Given the description of an element on the screen output the (x, y) to click on. 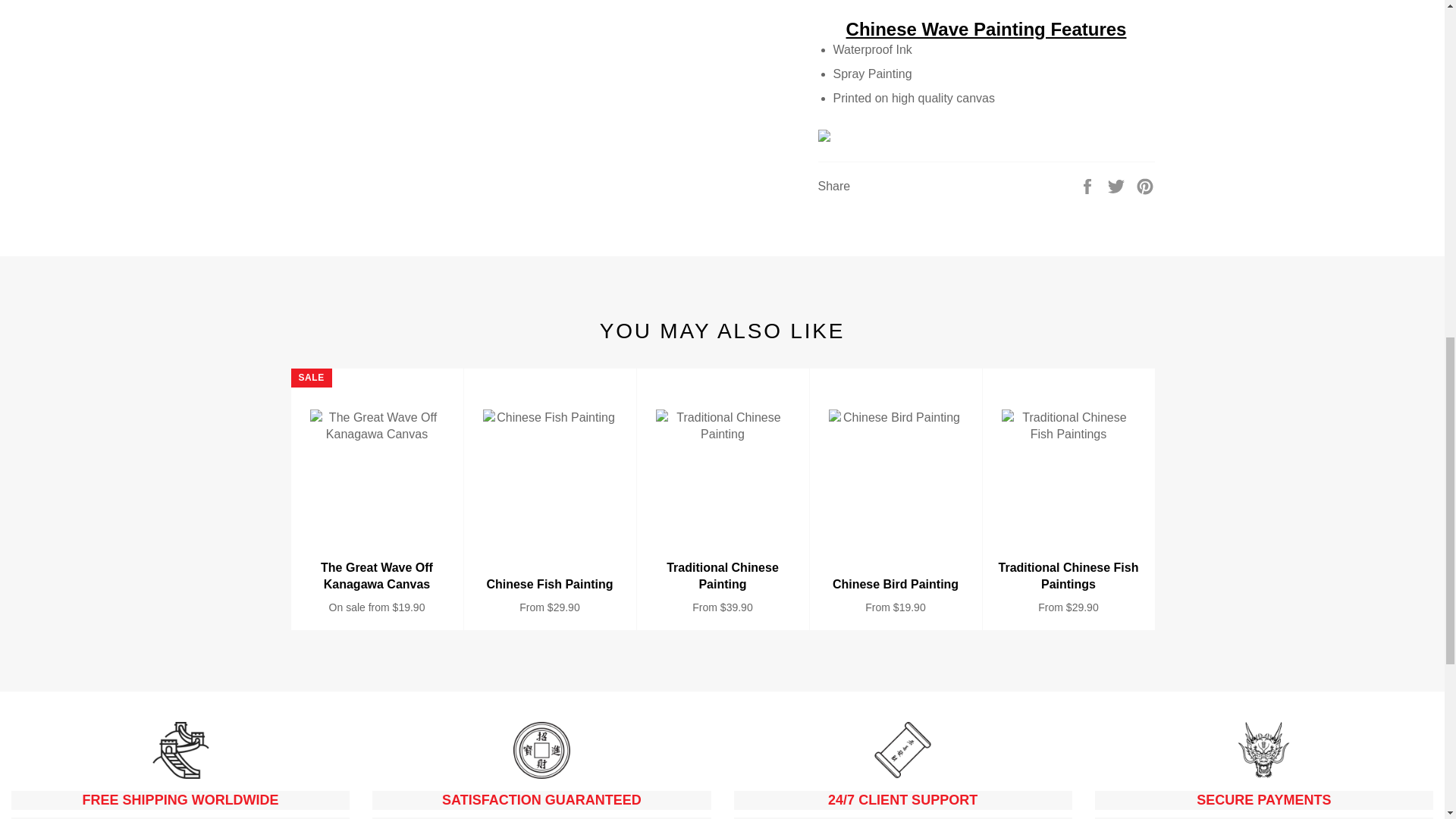
Pin on Pinterest (1144, 185)
Tweet on Twitter (1117, 185)
Share on Facebook (1088, 185)
